Given the description of an element on the screen output the (x, y) to click on. 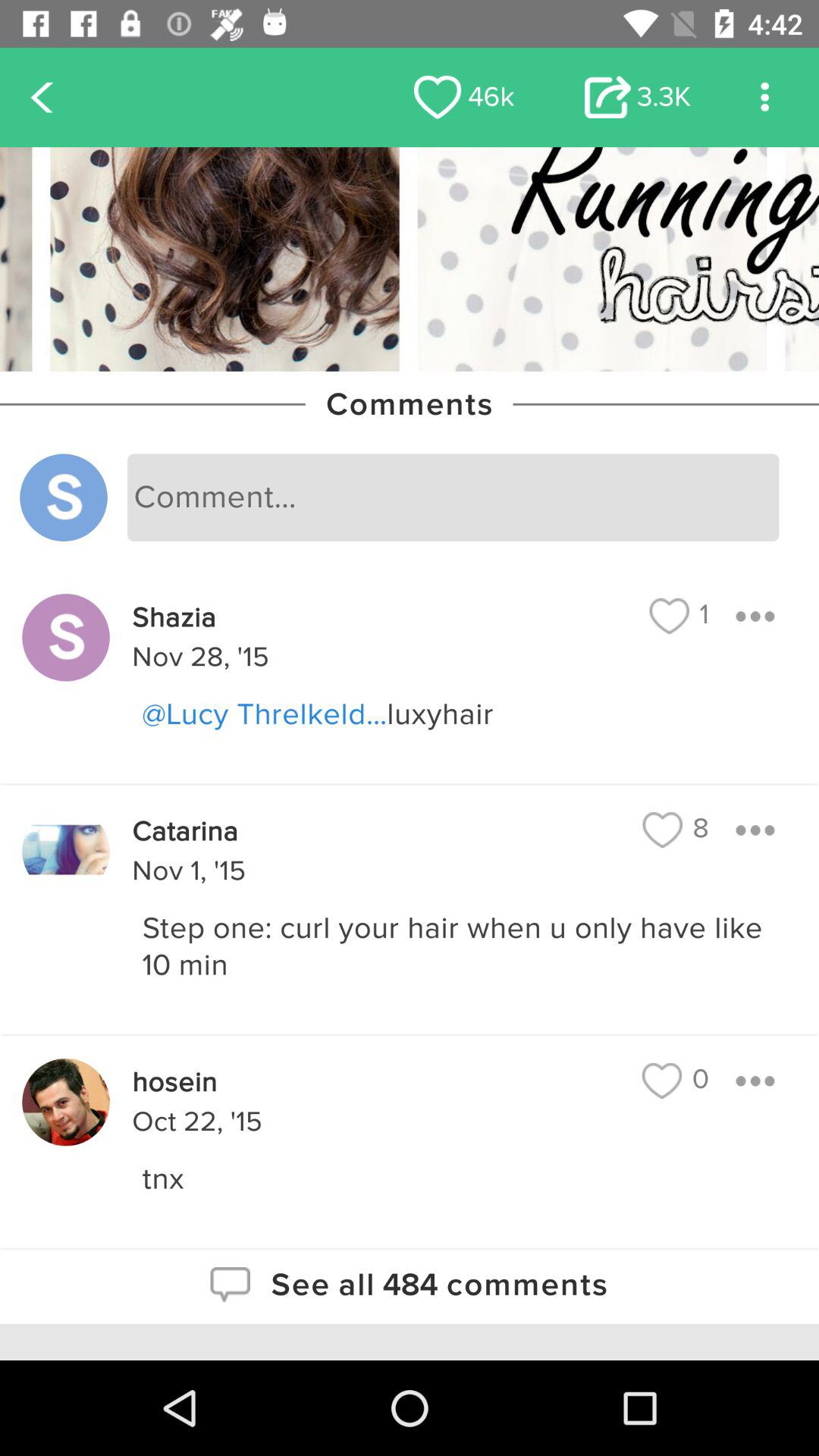
turn on the 0 icon (675, 1080)
